Given the description of an element on the screen output the (x, y) to click on. 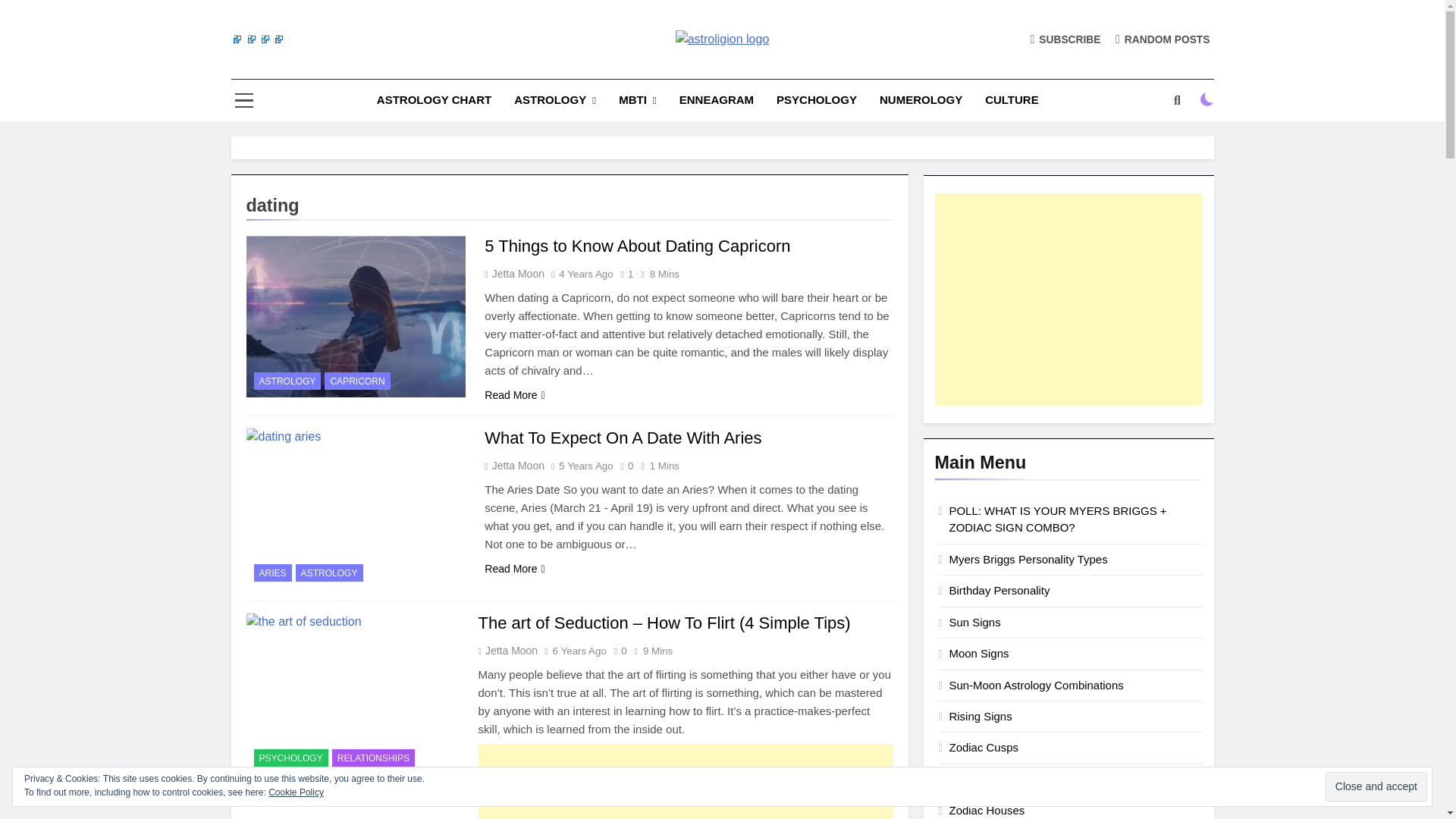
5 Things to Know About Dating Capricorn (355, 316)
Astroligion.Com (601, 64)
ASTROLOGY (554, 100)
5 Things to Know About Dating Capricorn (637, 245)
Close and accept (1375, 786)
Advertisement (684, 781)
What To Expect On A Date With Aries (355, 507)
What To Expect On A Date With Aries (622, 437)
RANDOM POSTS (1162, 38)
SUBSCRIBE (1064, 38)
